Given the description of an element on the screen output the (x, y) to click on. 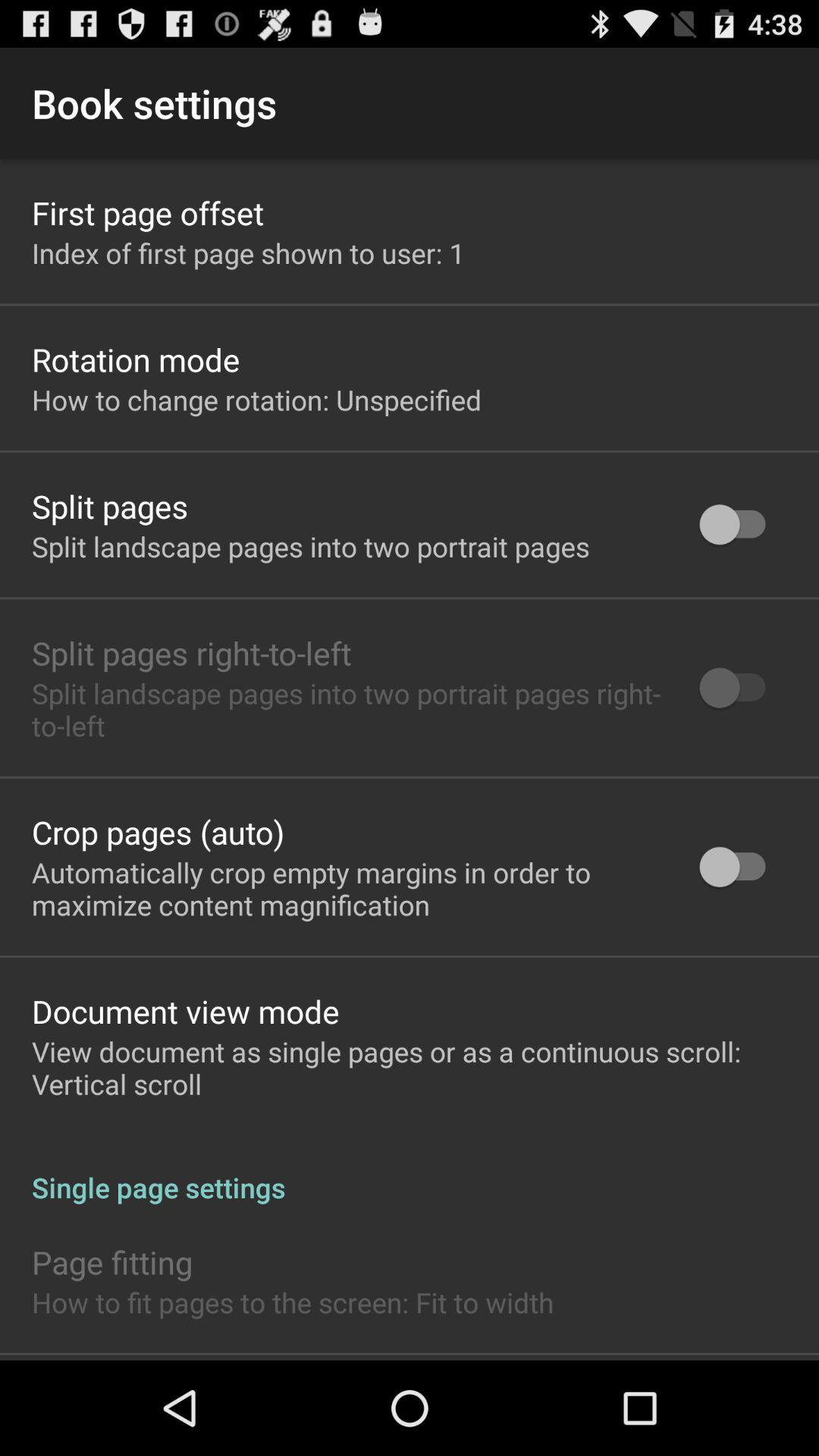
flip to automatically crop empty app (345, 888)
